Given the description of an element on the screen output the (x, y) to click on. 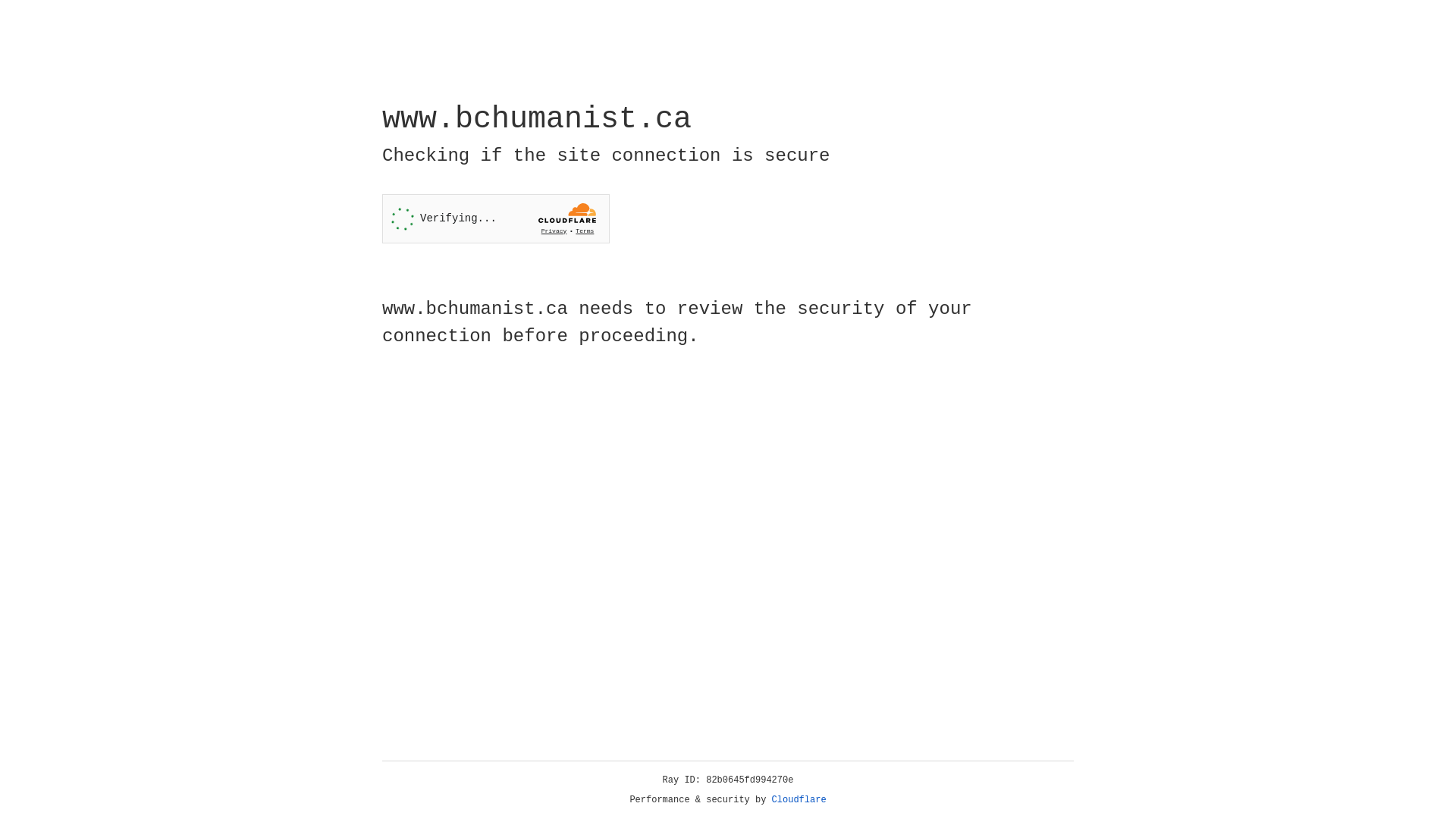
Cloudflare Element type: text (798, 799)
Widget containing a Cloudflare security challenge Element type: hover (495, 218)
